Given the description of an element on the screen output the (x, y) to click on. 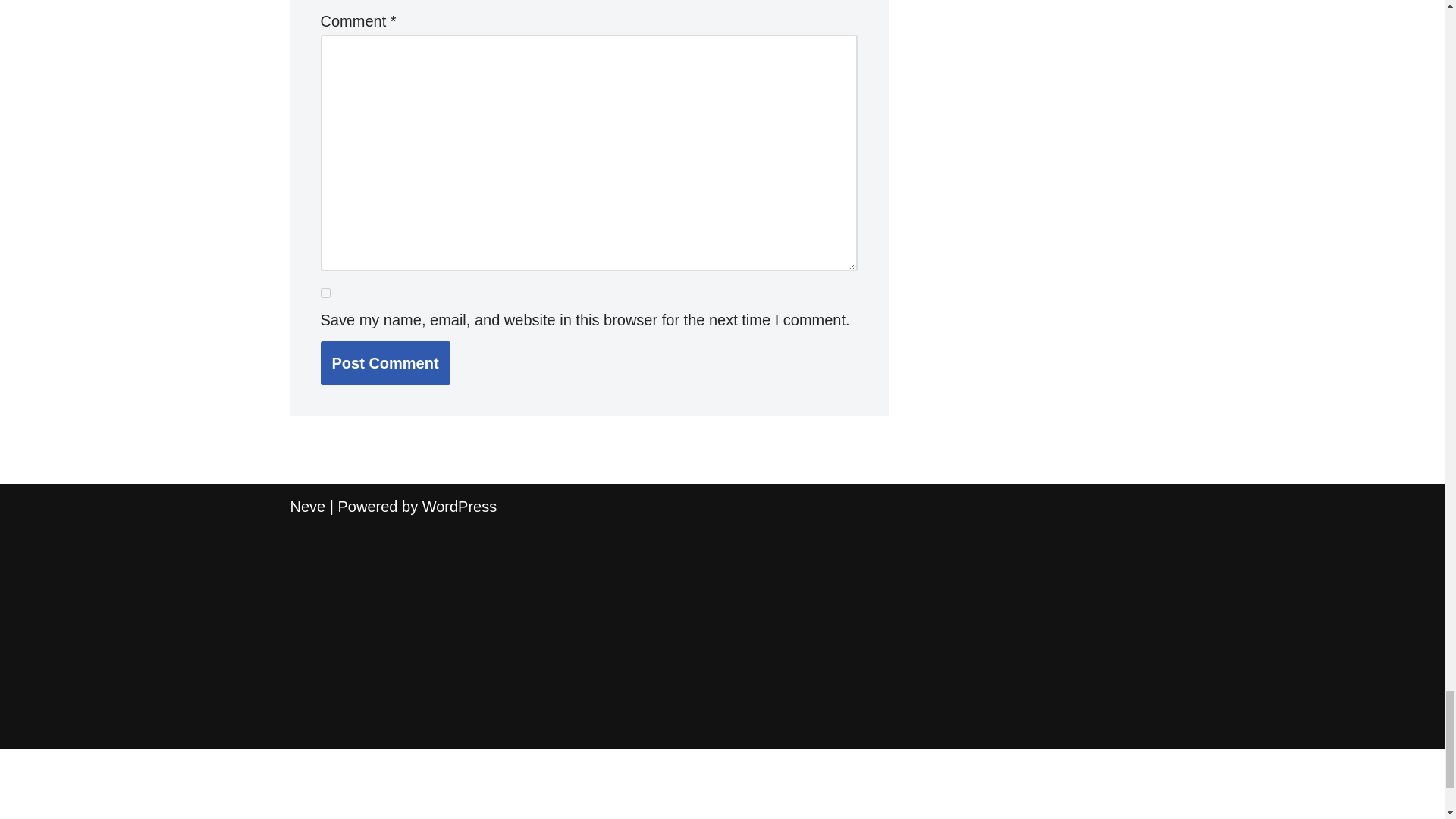
Post Comment (384, 362)
WordPress (459, 506)
Post Comment (384, 362)
yes (325, 293)
Neve (306, 506)
